Given the description of an element on the screen output the (x, y) to click on. 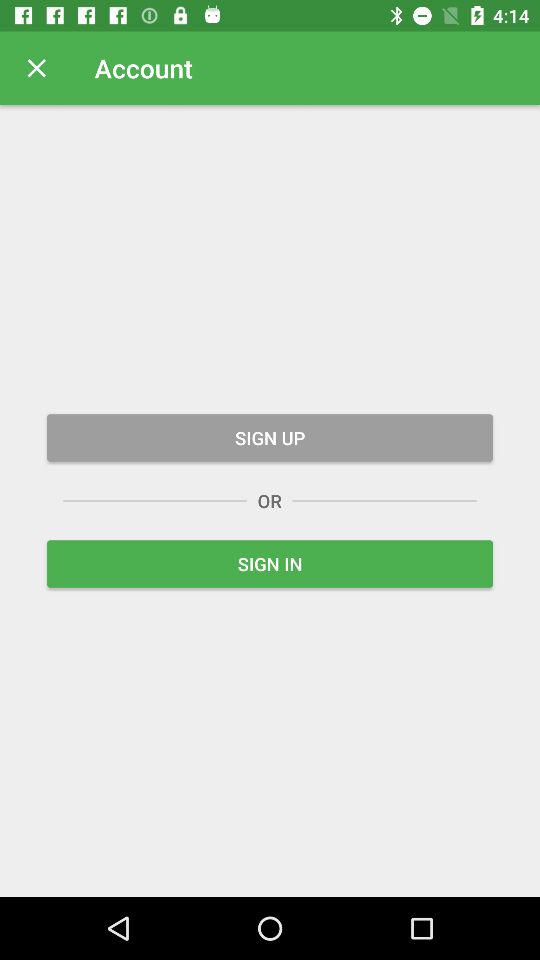
press item to the left of account item (36, 68)
